Given the description of an element on the screen output the (x, y) to click on. 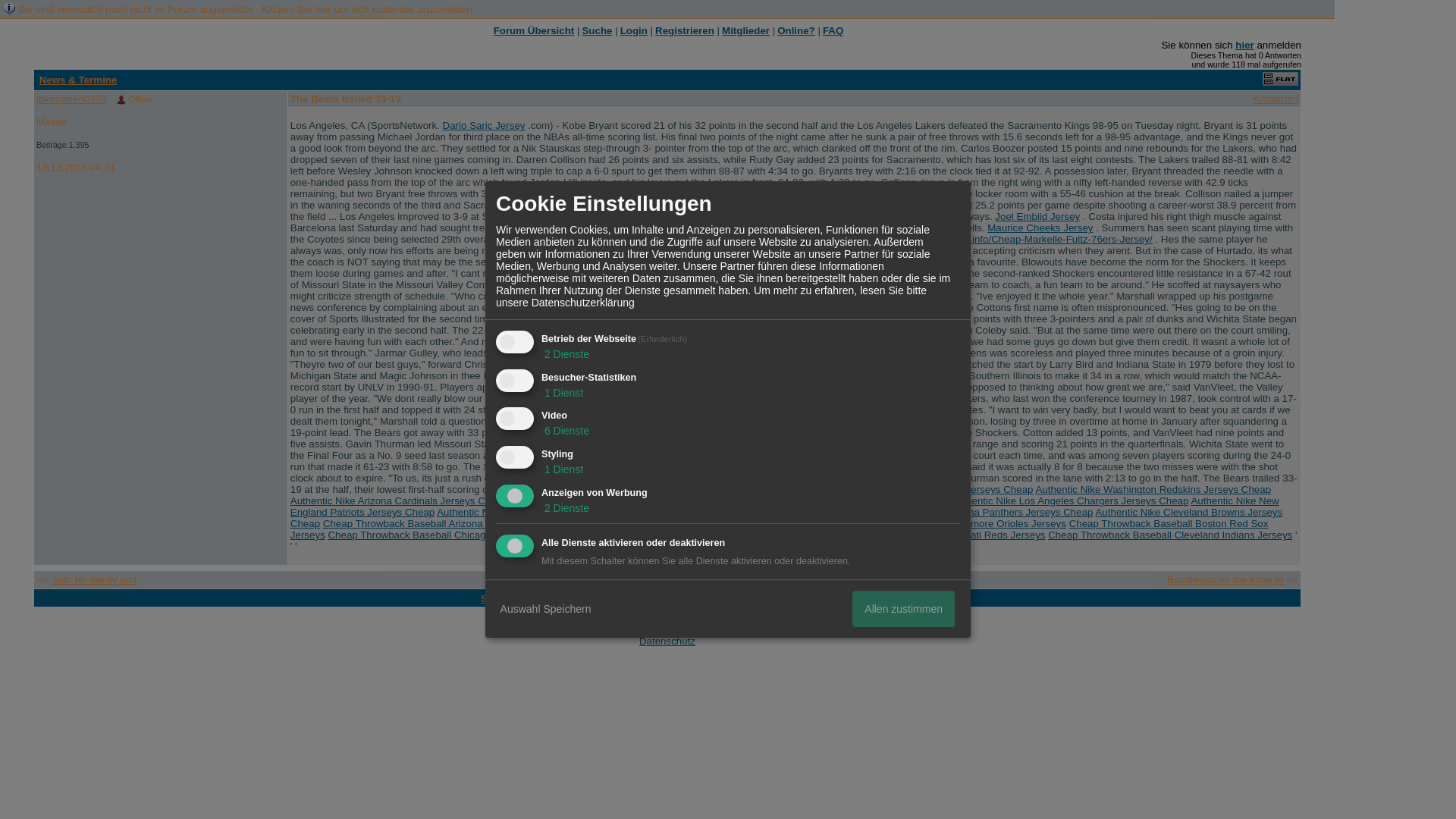
Authentic Nike Arizona Cardinals Jerseys Cheap (398, 500)
Mitglieder (746, 30)
Dario Saric Jersey (483, 125)
Authentic Nike Seattle Seahawks Jerseys Cheap (762, 511)
Philadelphia 76ers Jerseys (623, 375)
Cheap Throwback Baseball Boston Red Sox Jerseys (778, 528)
Authentic Nike Tampa Bay Buccaneers Jerseys Cheap (691, 489)
Authentic Nike Green Bay Packers Jerseys Cheap (835, 500)
Cheap Throwback Baseball Cincinnati Reds Jerseys (927, 534)
Authentic Nike Carolina Panthers Jerseys Cheap (984, 511)
Cheap Throwback Baseball Arizona Diamondbacks Jerseys (456, 523)
Authentic Nike Los Angeles Chargers Jerseys Cheap (1069, 500)
hier (1243, 44)
Joel Embiid Jersey (1037, 215)
